Given the description of an element on the screen output the (x, y) to click on. 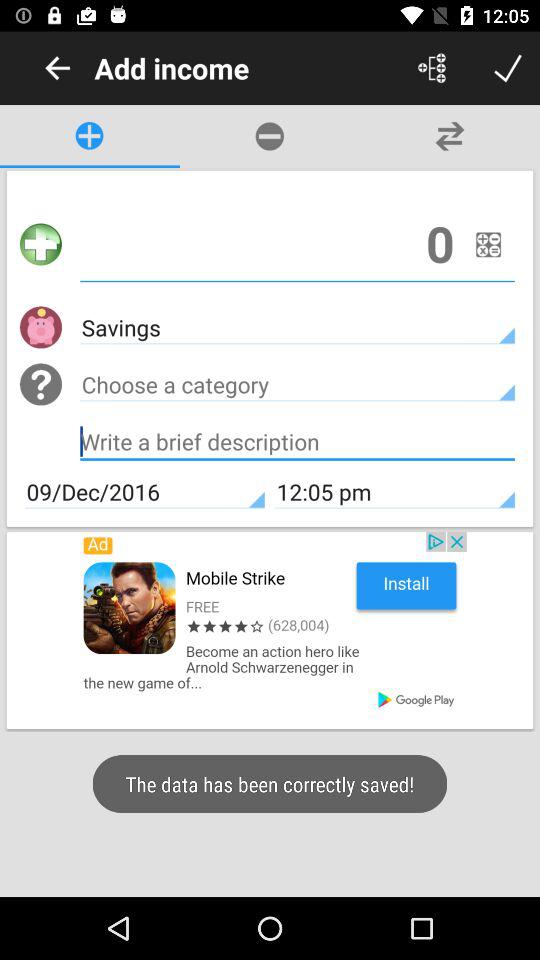
open google play site for mobile strike (269, 630)
